Given the description of an element on the screen output the (x, y) to click on. 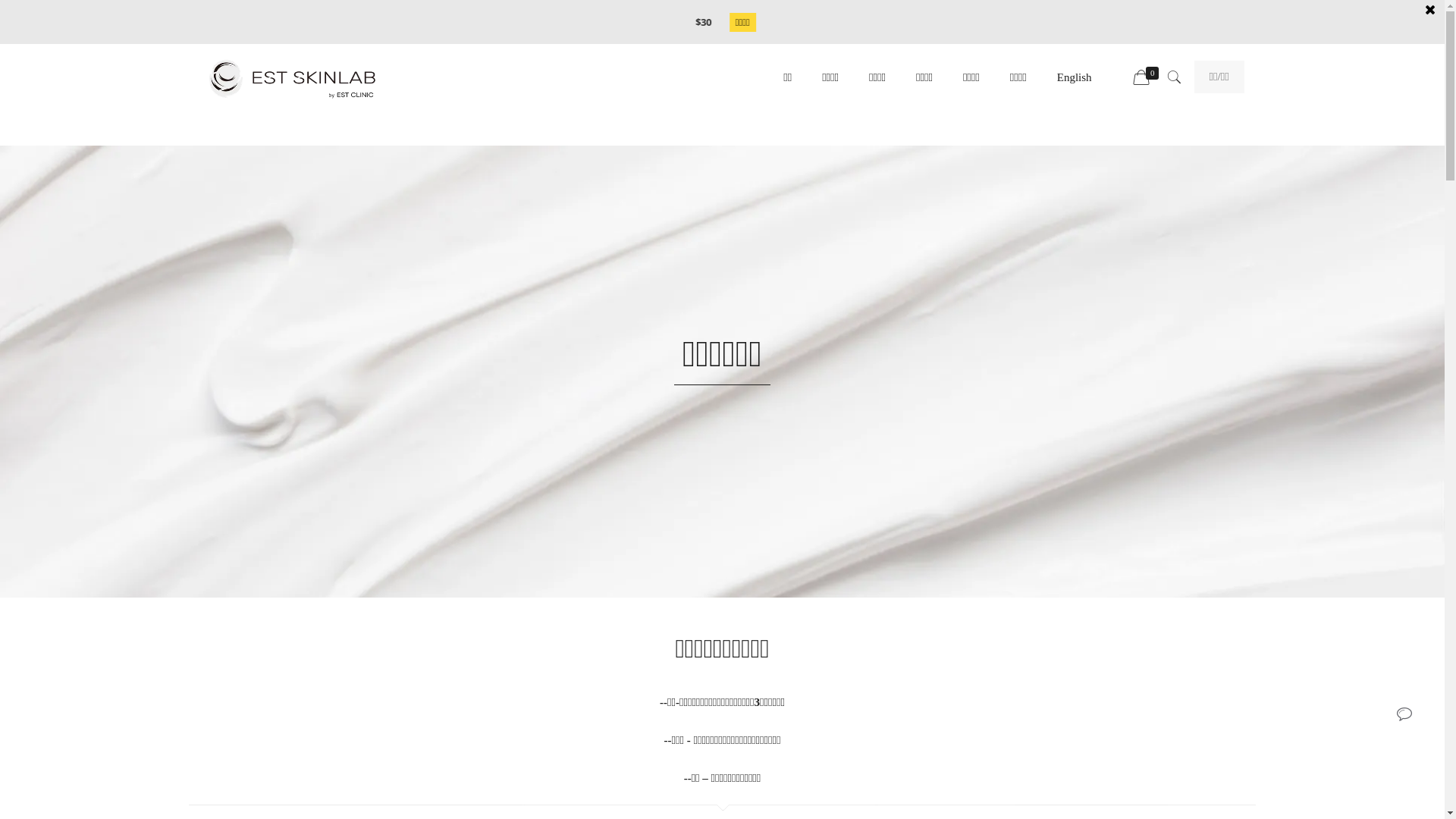
0 Element type: text (1147, 78)
English Element type: text (1074, 77)
